Given the description of an element on the screen output the (x, y) to click on. 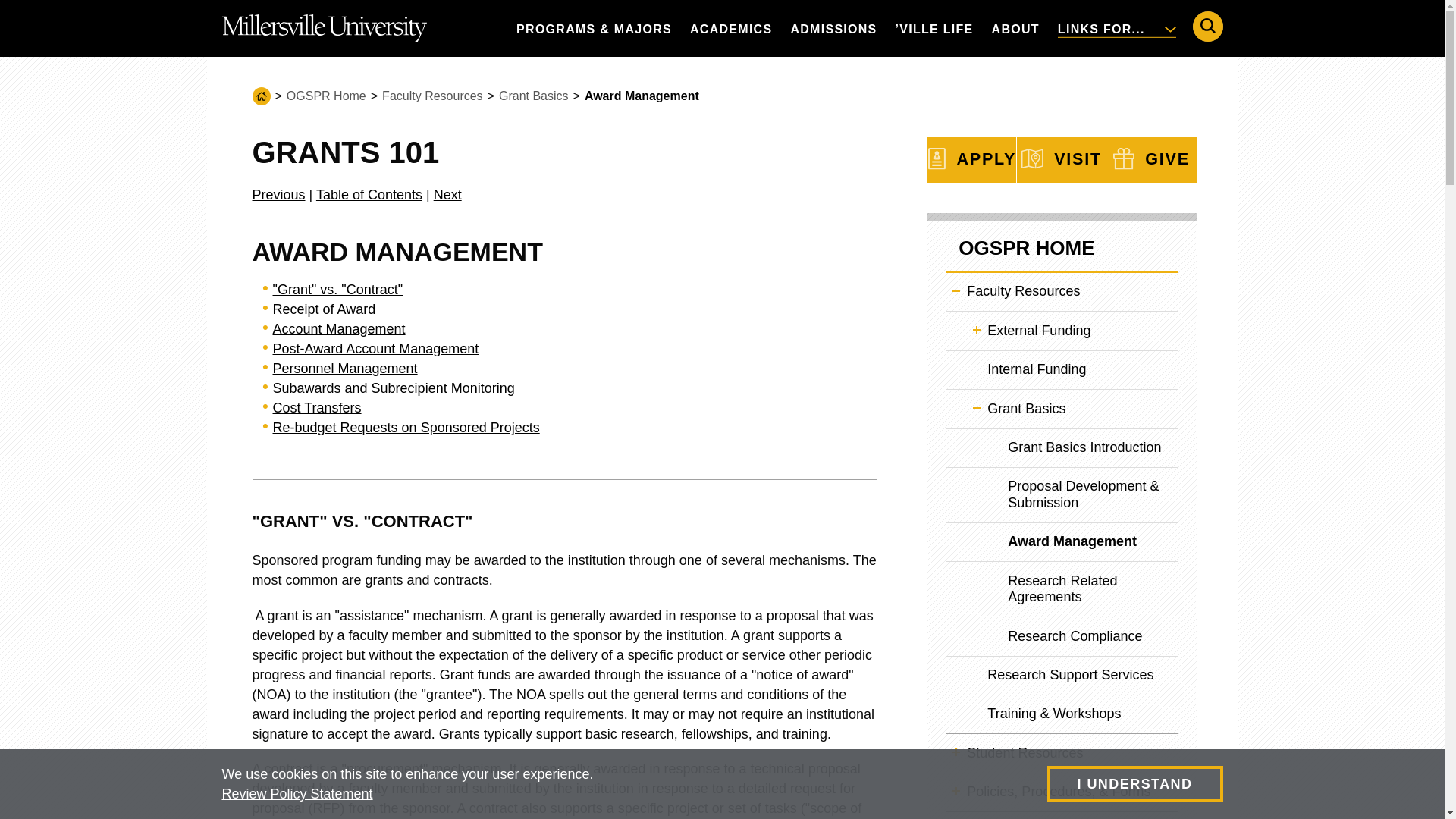
Millersville University Home Page (323, 28)
Academics (730, 28)
What are you looking for? (1207, 26)
ADMISSIONS (832, 28)
Admissions (832, 28)
LINKS FOR... (1116, 28)
ACADEMICS (730, 28)
Millersville University Home Page (323, 28)
ABOUT (1015, 28)
